Given the description of an element on the screen output the (x, y) to click on. 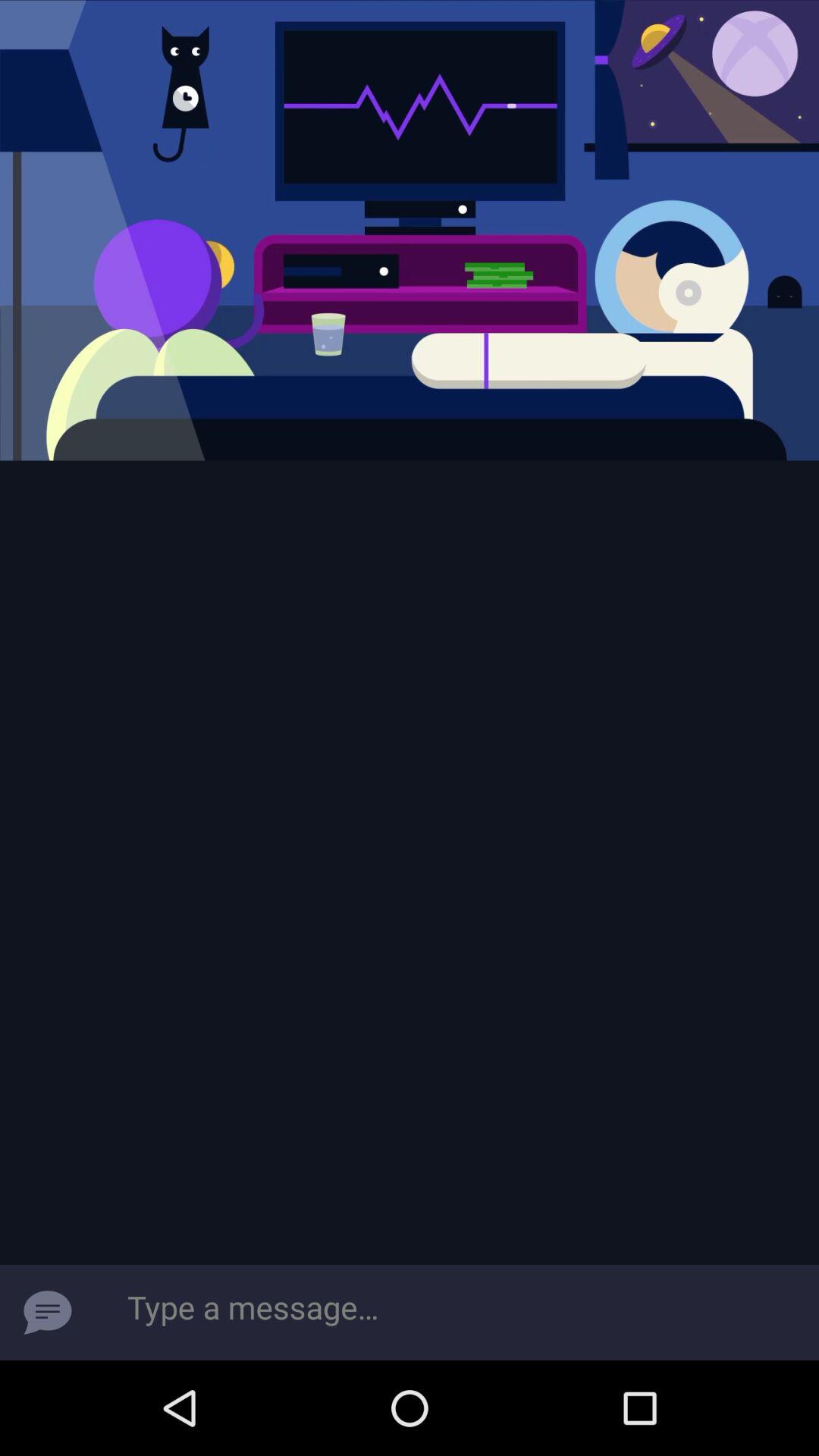
message field (457, 1312)
